Given the description of an element on the screen output the (x, y) to click on. 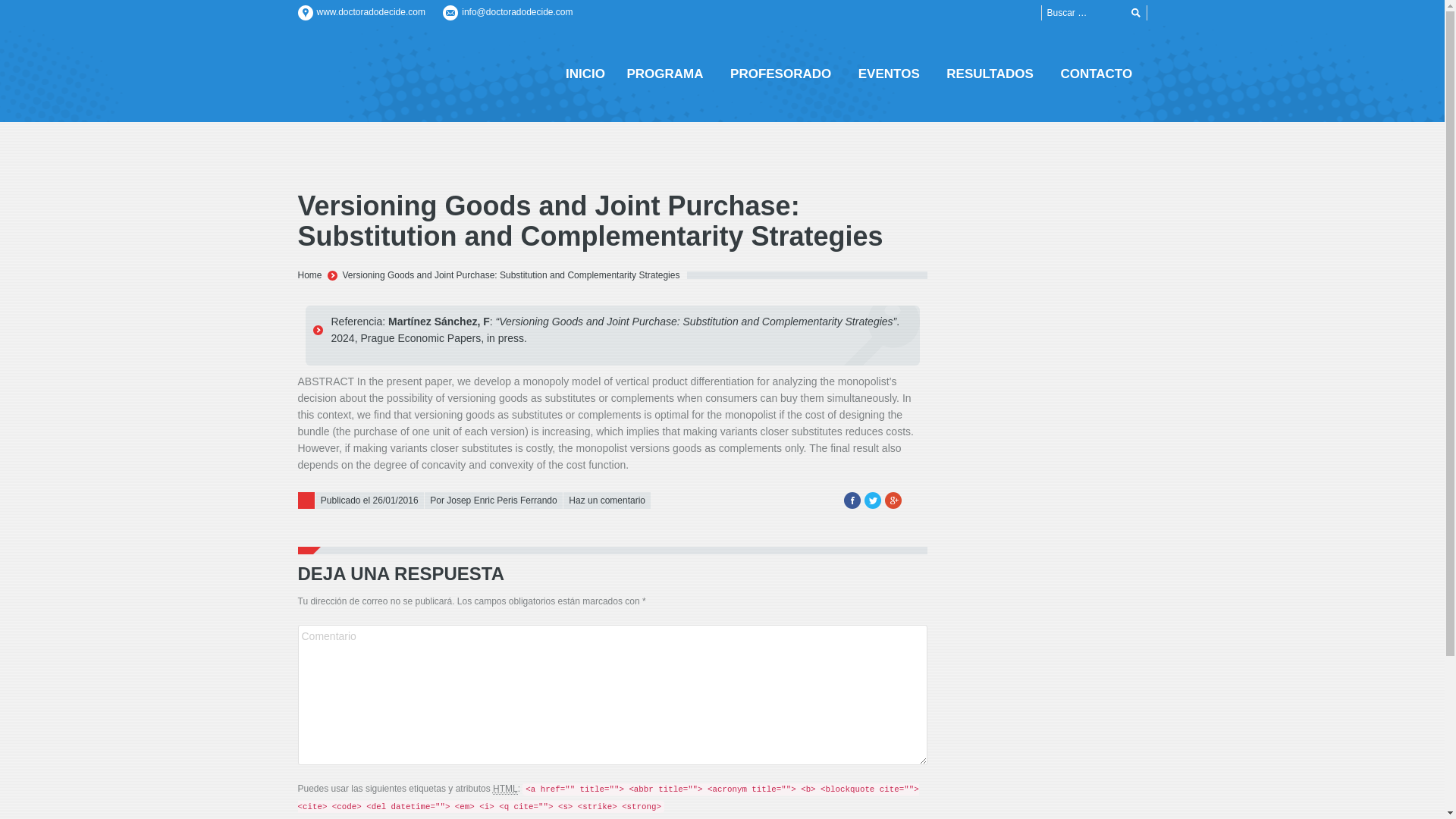
PROGRAMA (667, 73)
Facebook (851, 500)
EVENTOS (891, 73)
Go! (1136, 13)
Home (309, 275)
Go! (1136, 13)
1:20 pm (369, 500)
Por Josep Enric Peris Ferrando (493, 500)
RESULTADOS (992, 73)
Twitter (872, 500)
